Given the description of an element on the screen output the (x, y) to click on. 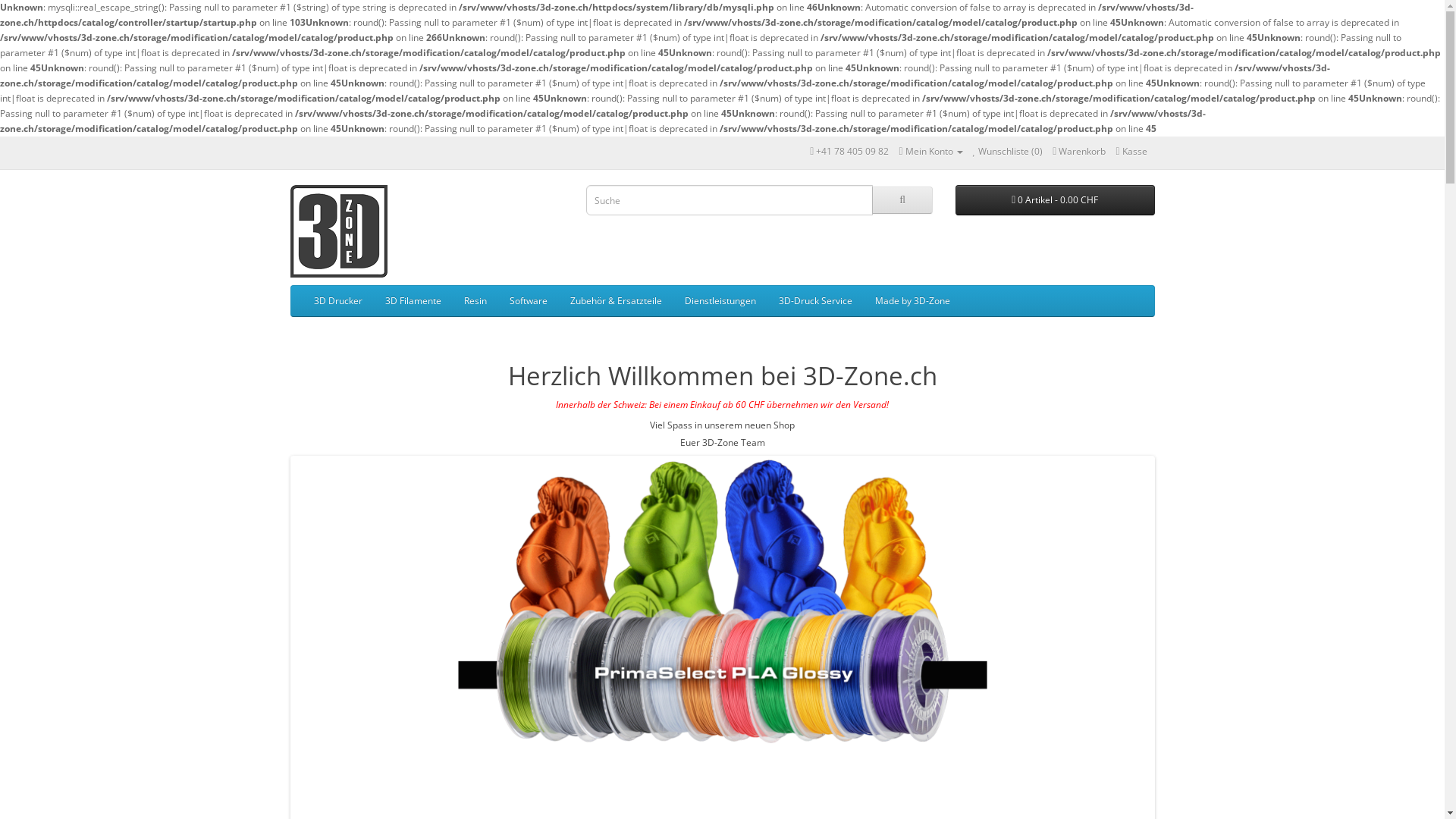
Made by 3D-Zone Element type: text (911, 300)
Warenkorb Element type: text (1078, 150)
Dienstleistungen Element type: text (720, 300)
3D-Zone Meury Element type: hover (337, 231)
Software Element type: text (527, 300)
3D Drucker Element type: text (337, 300)
0 Artikel - 0.00 CHF Element type: text (1054, 200)
Wunschliste (0) Element type: text (1007, 150)
Mein Konto Element type: text (930, 150)
3D-Druck Service Element type: text (815, 300)
Kasse Element type: text (1130, 150)
3D Filamente Element type: text (412, 300)
Resin Element type: text (474, 300)
